Given the description of an element on the screen output the (x, y) to click on. 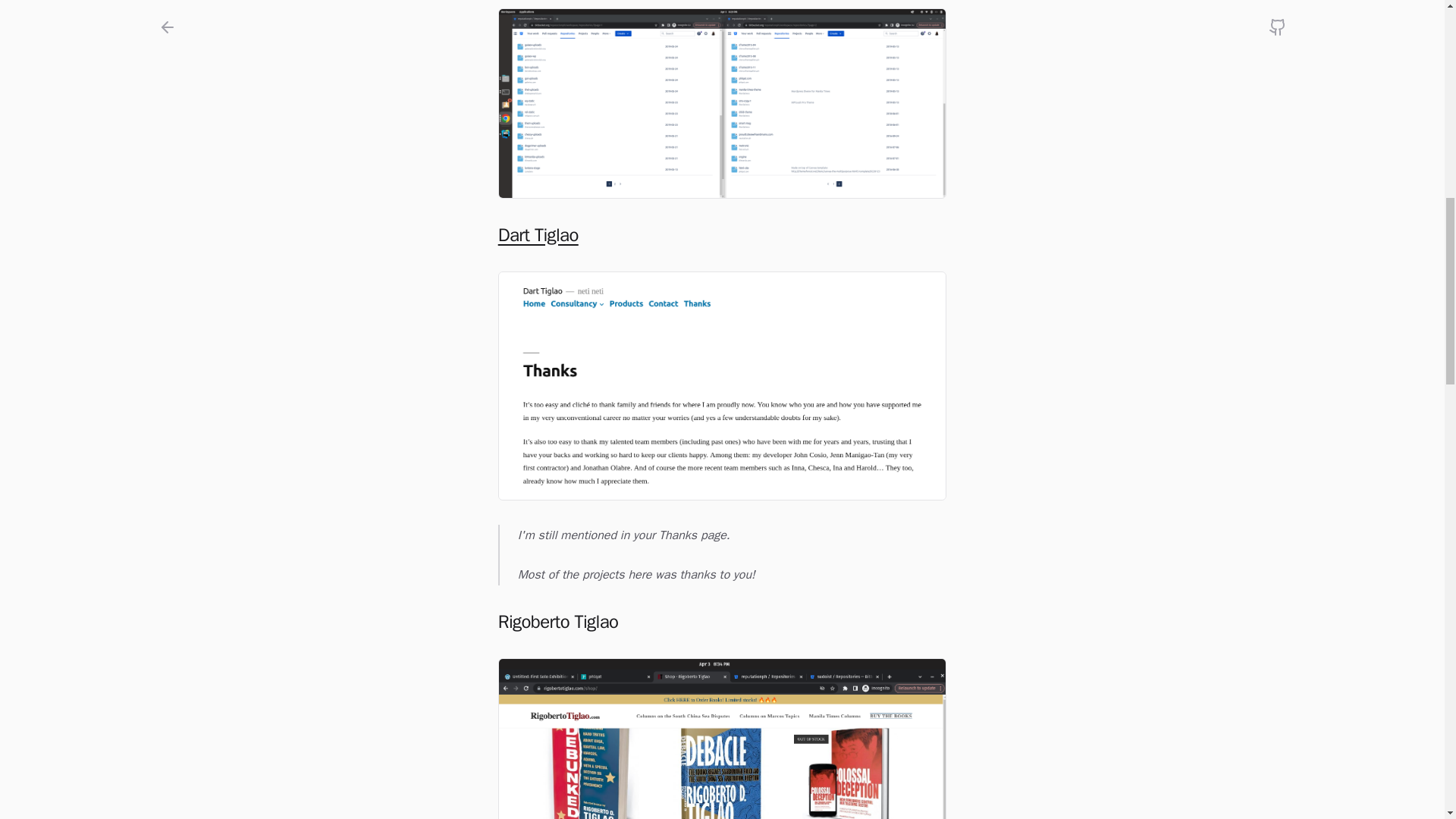
Rigoberto Tiglao (722, 738)
Dart Tiglao (722, 385)
Dart Tiglao (537, 234)
Rigoberto Tiglao (722, 621)
Dart Tiglao (722, 234)
Bitbucket repositories (722, 103)
